Given the description of an element on the screen output the (x, y) to click on. 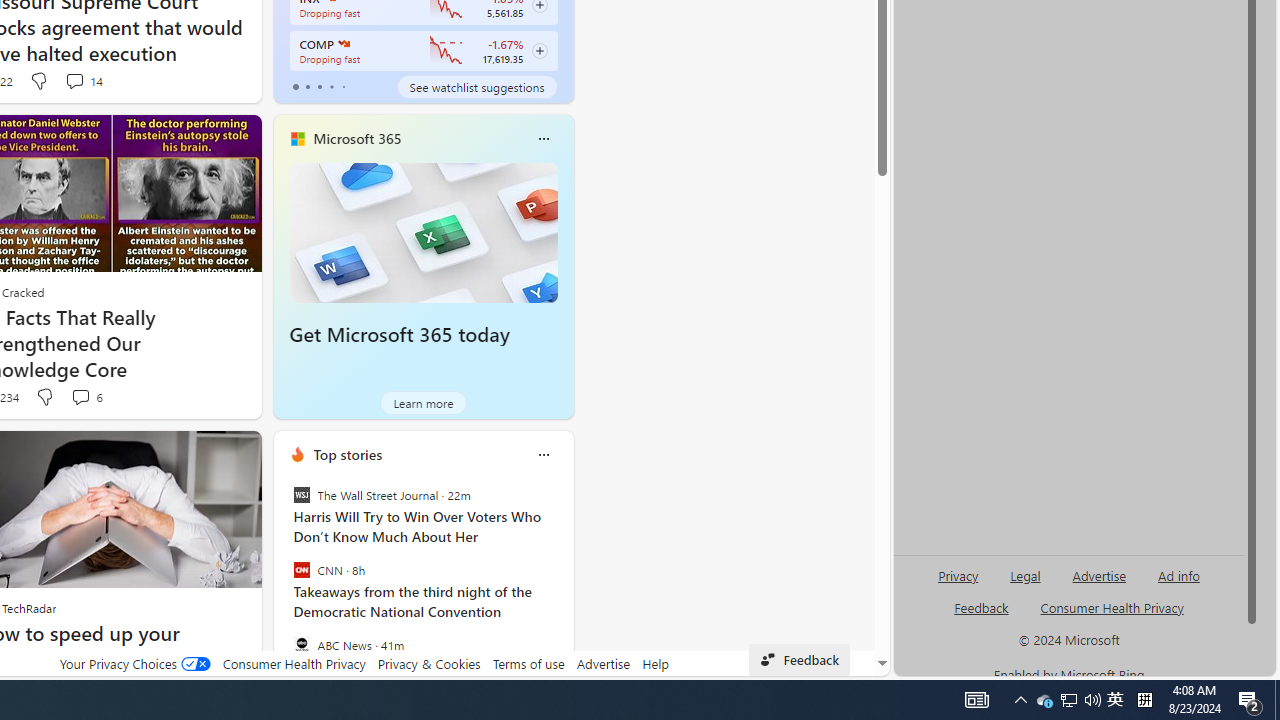
AutomationID: sb_feedback (980, 607)
ABC News (301, 644)
See watchlist suggestions (476, 86)
CNN (301, 570)
tab-0 (295, 86)
More options (543, 454)
AutomationID: genId96 (981, 615)
Get Microsoft 365 today (423, 232)
tab-1 (306, 86)
tab-3 (331, 86)
